Given the description of an element on the screen output the (x, y) to click on. 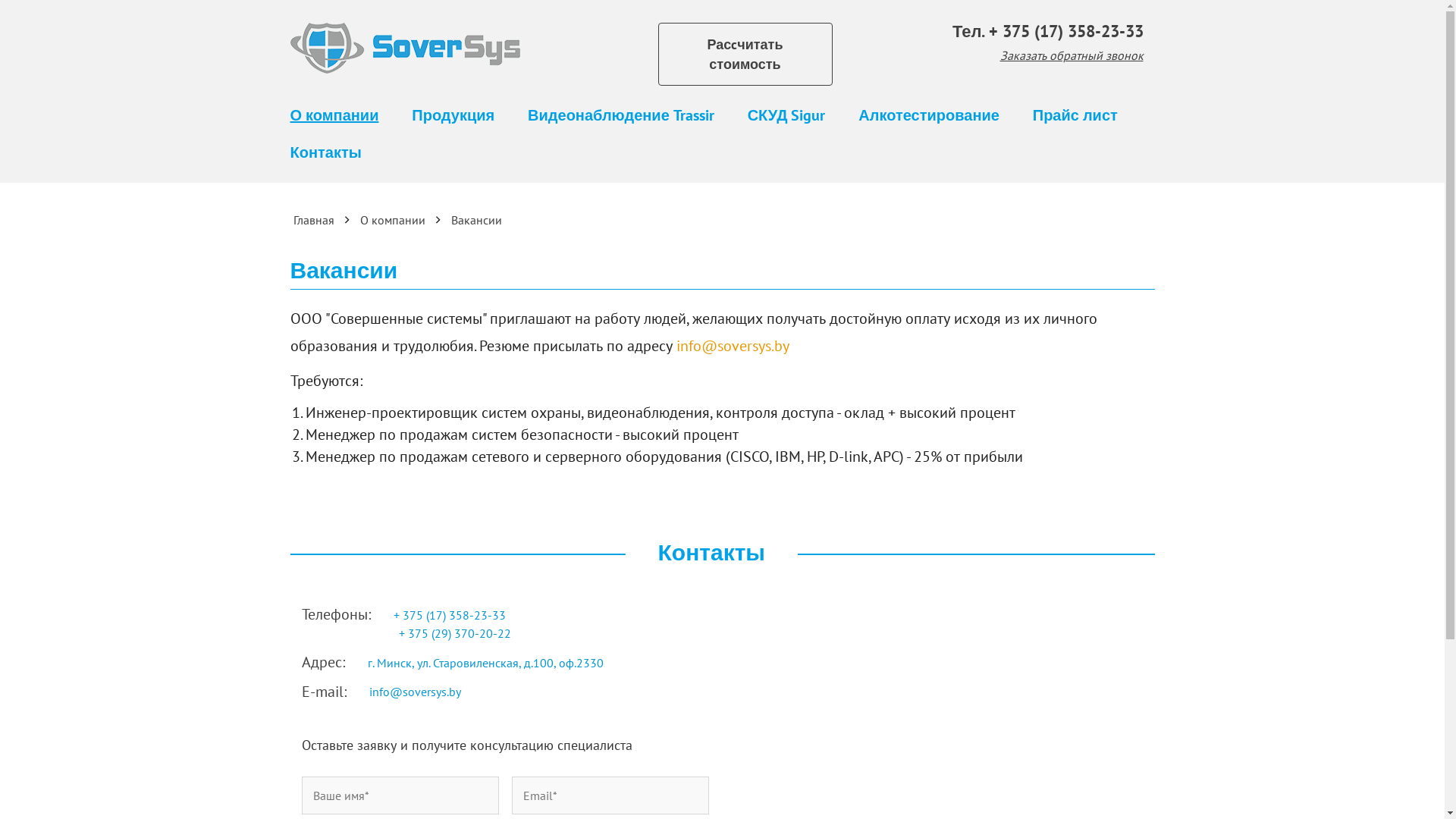
+ 375 (17) 358-23-33 Element type: text (1065, 30)
+ 375 (17) 358-23-33 Element type: text (450, 614)
info@soversys.by Element type: text (414, 691)
info@soversys.by Element type: text (732, 345)
+ 375 (29) 370-20-22  Element type: text (456, 632)
